Given the description of an element on the screen output the (x, y) to click on. 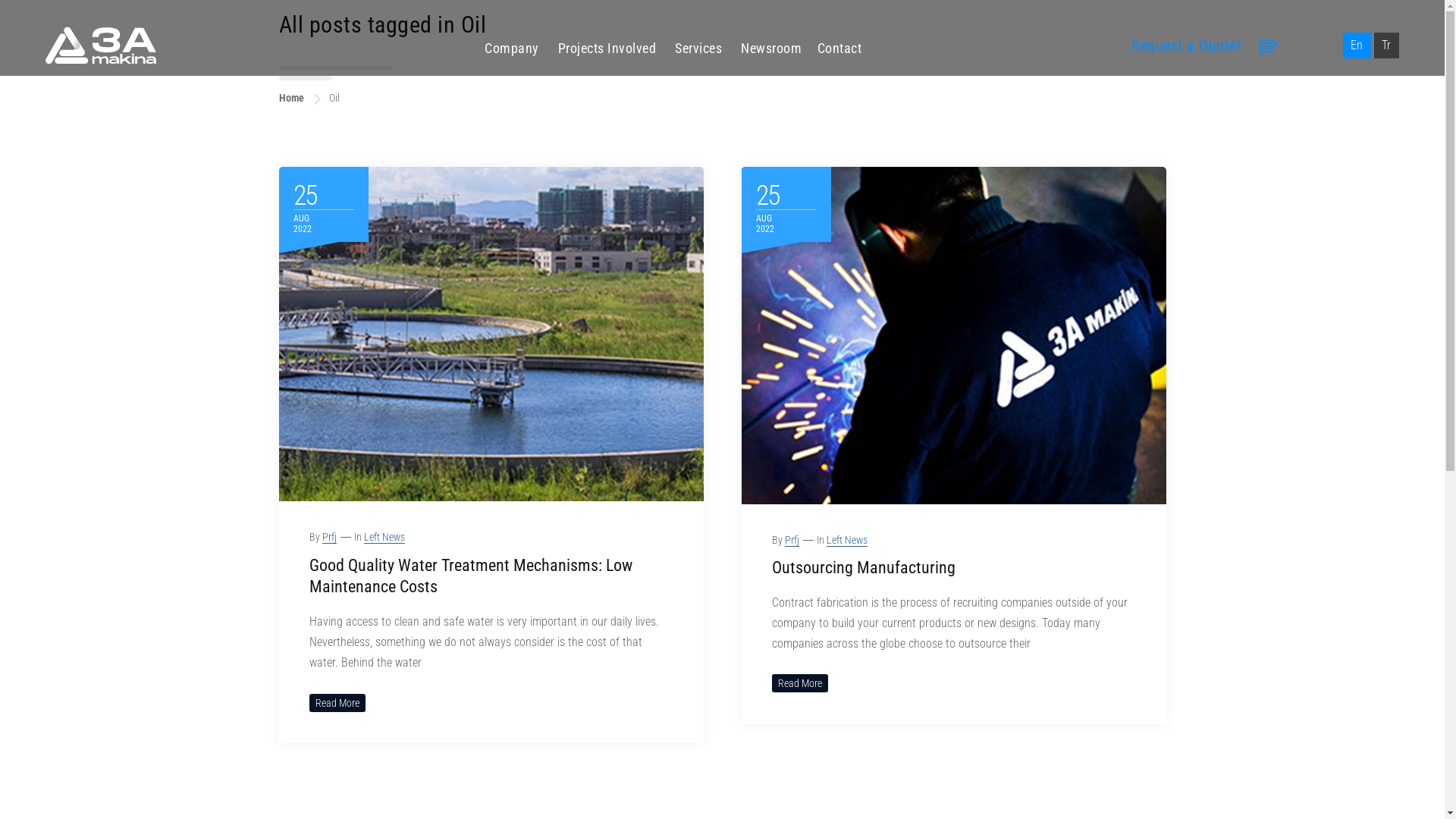
En Element type: text (1357, 45)
Company Element type: text (511, 48)
Home Element type: text (291, 97)
Prfj Element type: text (328, 536)
Newsroom Element type: text (770, 48)
Left News Element type: text (384, 536)
Contact Element type: text (835, 45)
Request a Quote! Element type: text (1185, 45)
Outsourcing Manufacturing Element type: text (863, 567)
Left News Element type: text (846, 539)
Services Element type: text (697, 48)
Prfj Element type: text (791, 539)
Projects Involved Element type: text (607, 48)
Read More Element type: text (799, 683)
Read More Element type: text (337, 702)
Tr Element type: text (1386, 45)
